Given the description of an element on the screen output the (x, y) to click on. 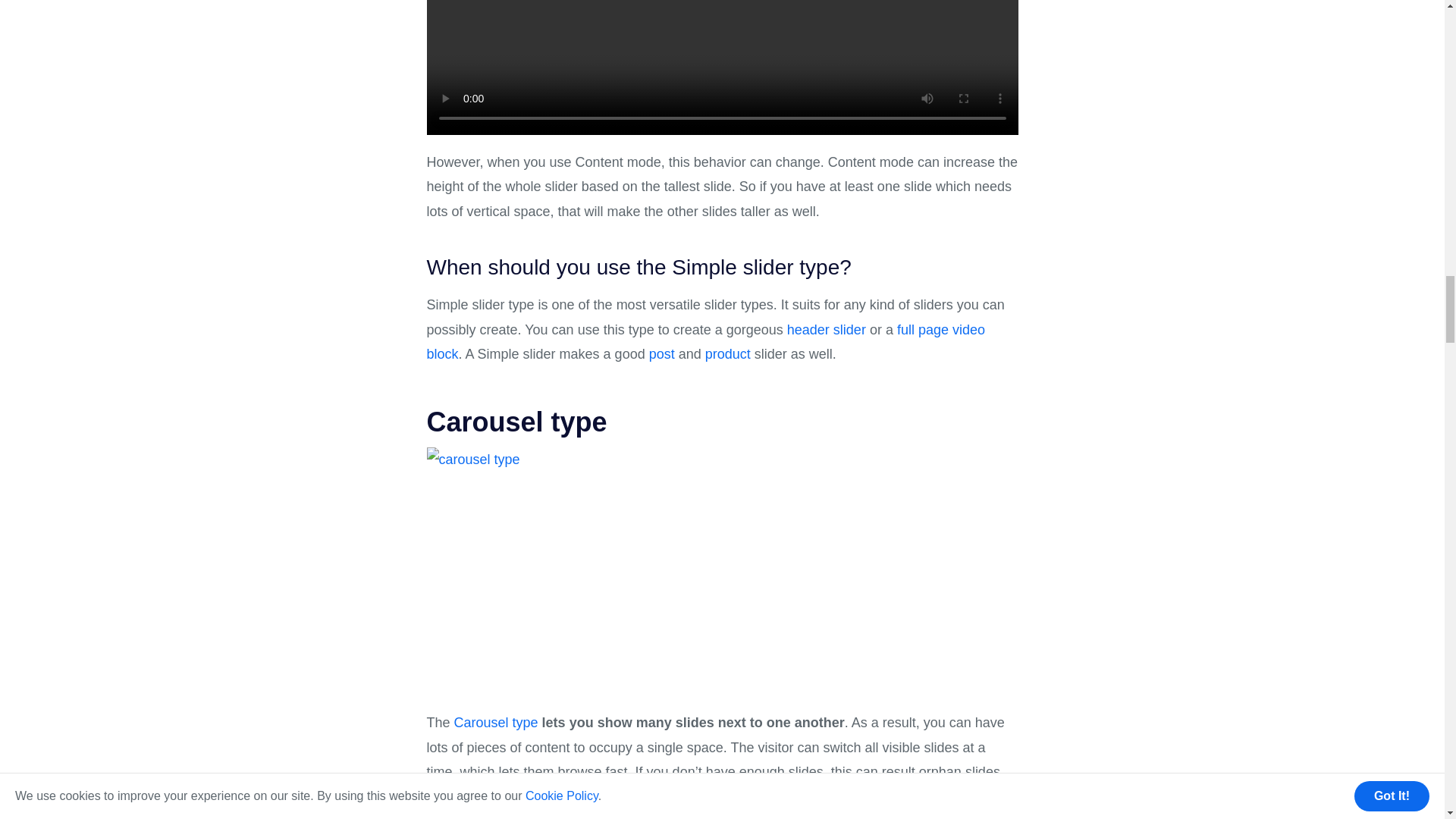
Carousel type (496, 723)
product (727, 354)
post (662, 354)
full page video block (705, 342)
header slider (826, 330)
